Given the description of an element on the screen output the (x, y) to click on. 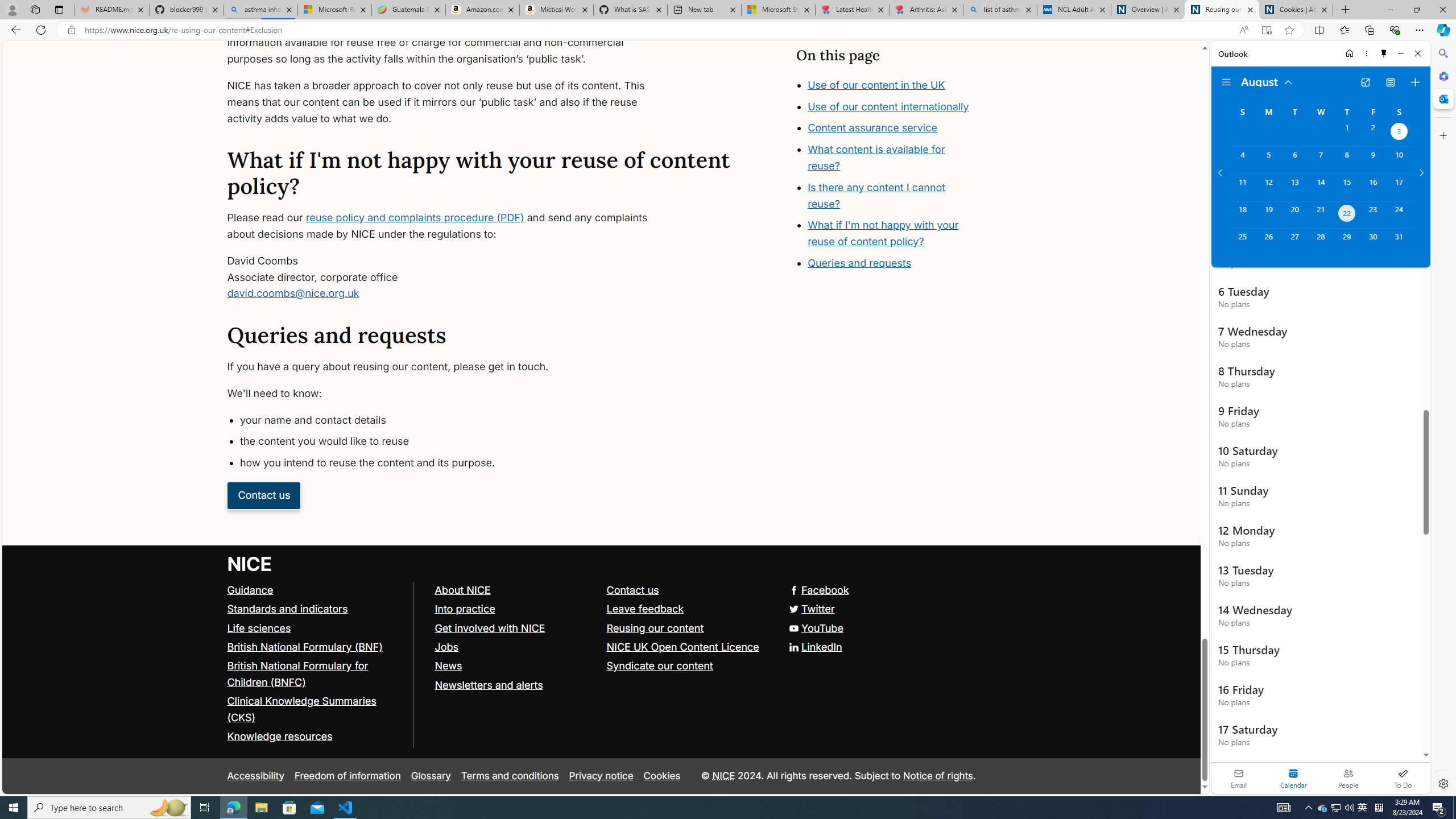
Contact us (632, 589)
david.coombs@nice.org.uk (293, 293)
Contact us (686, 589)
Life sciences (259, 627)
Reusing our content (654, 627)
Use of our content internationally (896, 131)
Cookies | About | NICE (1295, 9)
Wednesday, August 28, 2024.  (1320, 241)
British National Formulary for Children (BNFC) (315, 674)
Queries and requests (859, 262)
LinkedIn (601, 647)
